Given the description of an element on the screen output the (x, y) to click on. 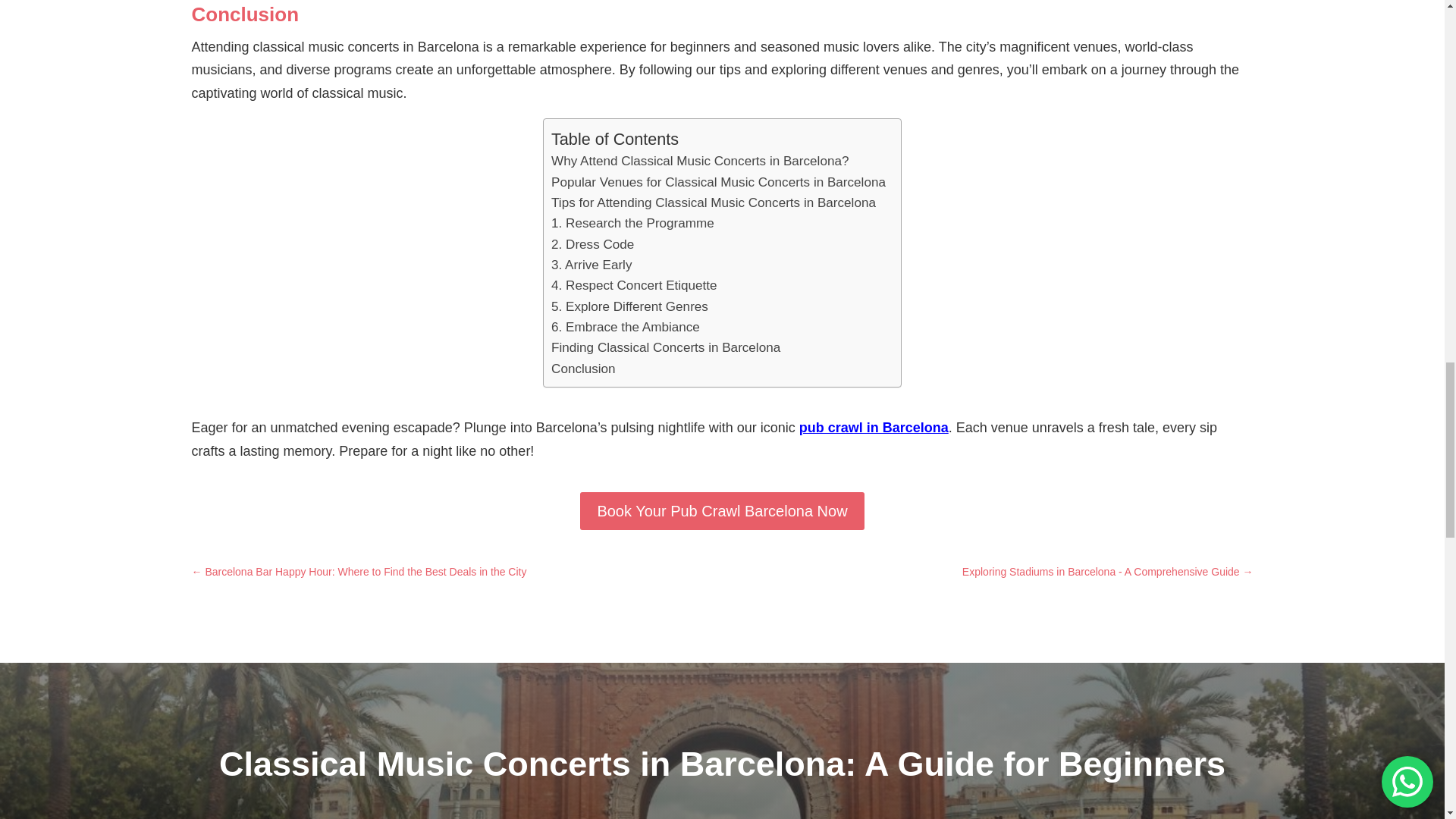
3. Arrive Early (591, 264)
Why Attend Classical Music Concerts in Barcelona? (699, 160)
5. Explore Different Genres (629, 306)
5. Explore Different Genres (629, 306)
pub crawl in Barcelona (874, 427)
1. Research the Programme (632, 222)
1. Research the Programme (632, 222)
4. Respect Concert Etiquette (634, 285)
Conclusion (583, 368)
4. Respect Concert Etiquette (634, 285)
